Given the description of an element on the screen output the (x, y) to click on. 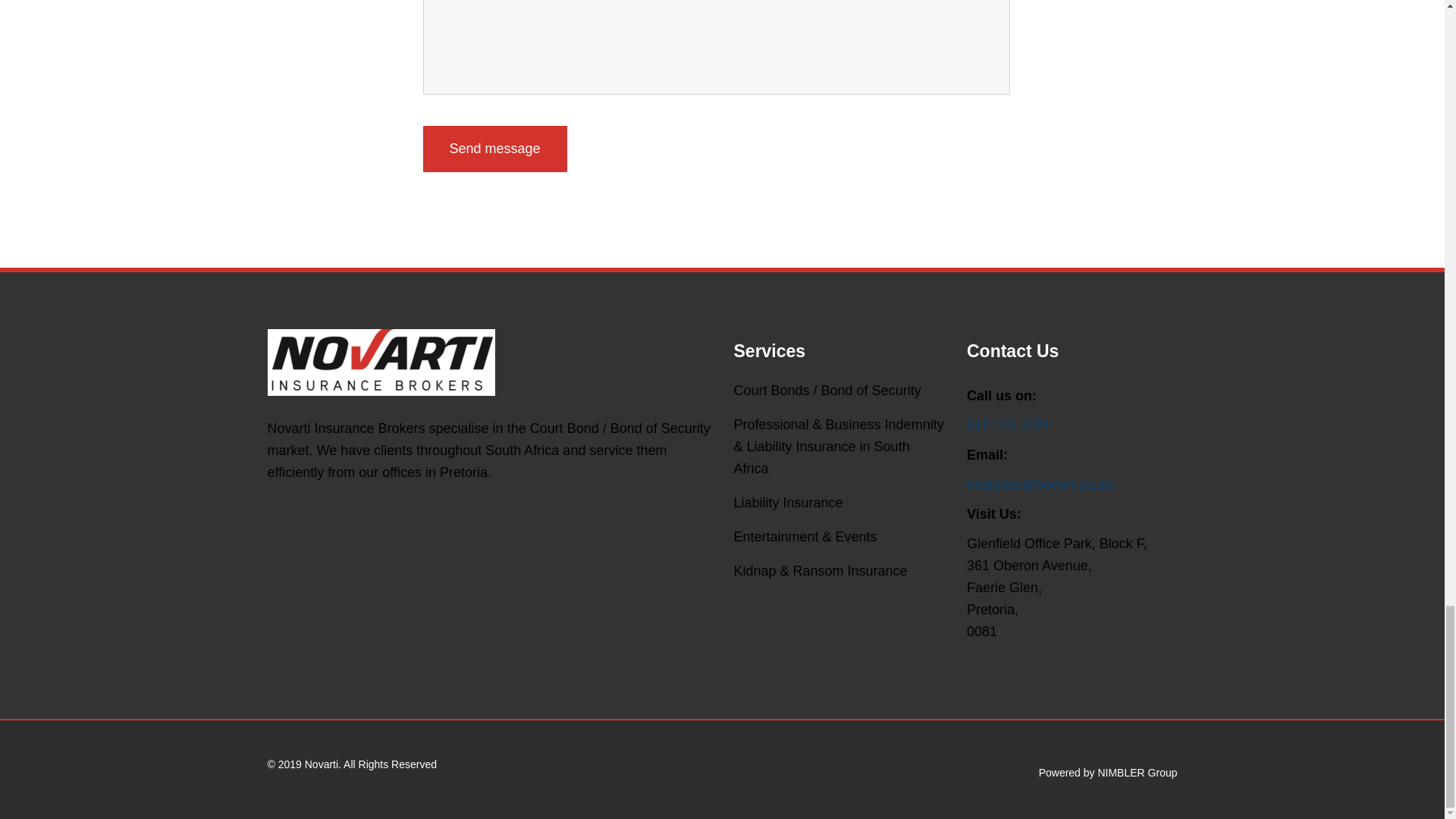
Send message (495, 148)
Liability Insurance (788, 503)
Send message (495, 148)
